Given the description of an element on the screen output the (x, y) to click on. 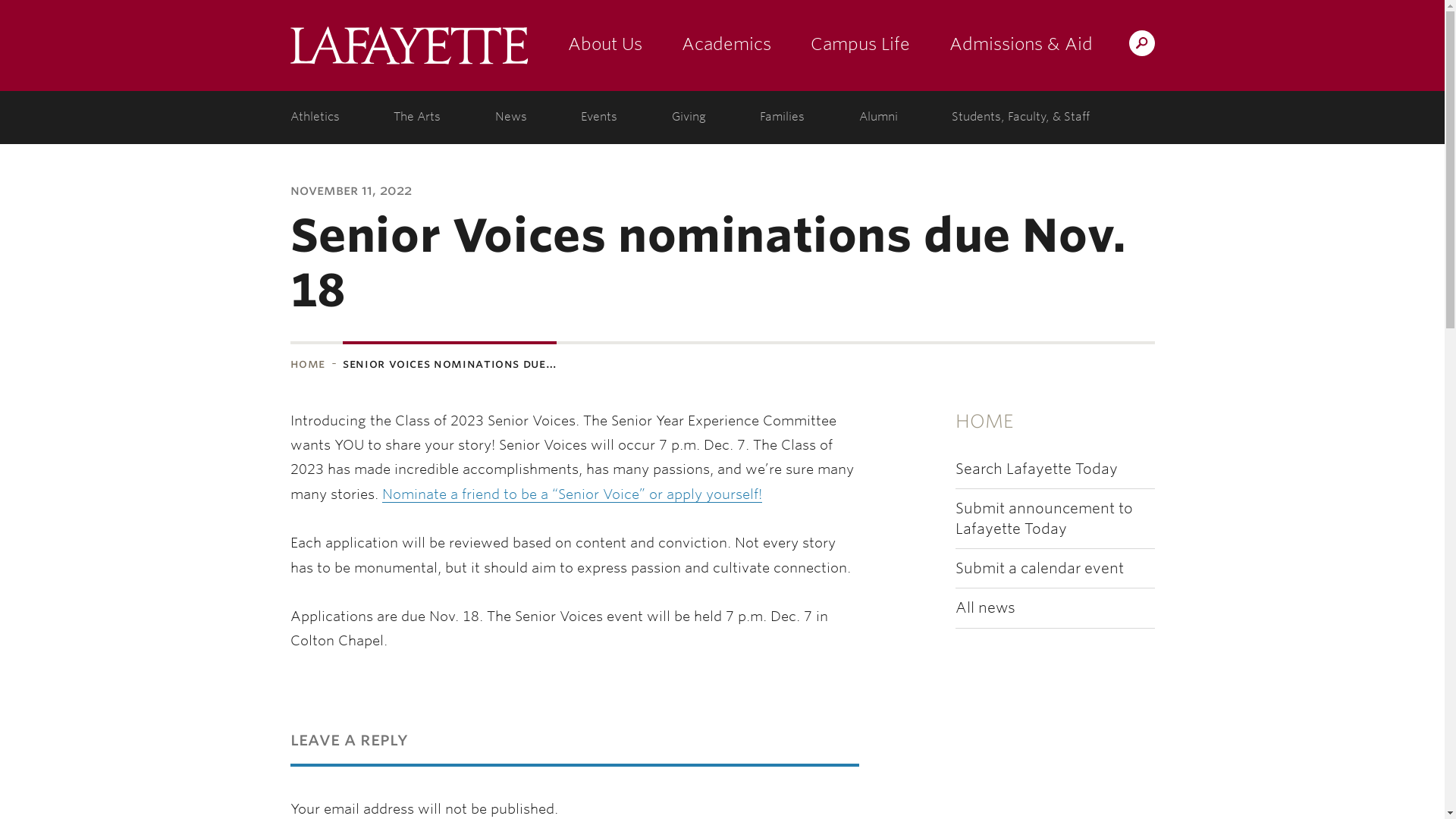
About Us (603, 45)
Lafayette College (408, 45)
Campus Life (859, 45)
Academics (725, 45)
Search (842, 42)
Search Lafayette.edu (1141, 43)
